Given the description of an element on the screen output the (x, y) to click on. 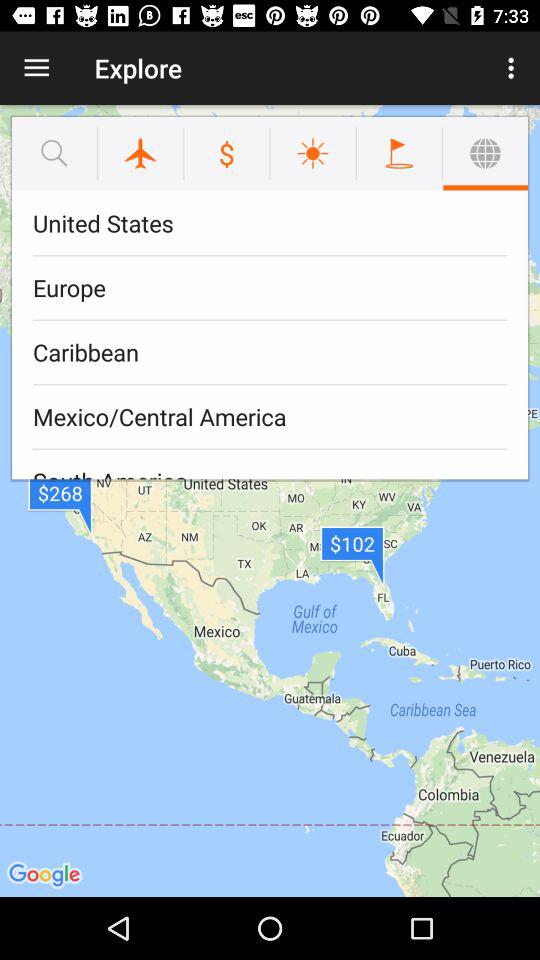
turn off the united states icon (270, 223)
